Given the description of an element on the screen output the (x, y) to click on. 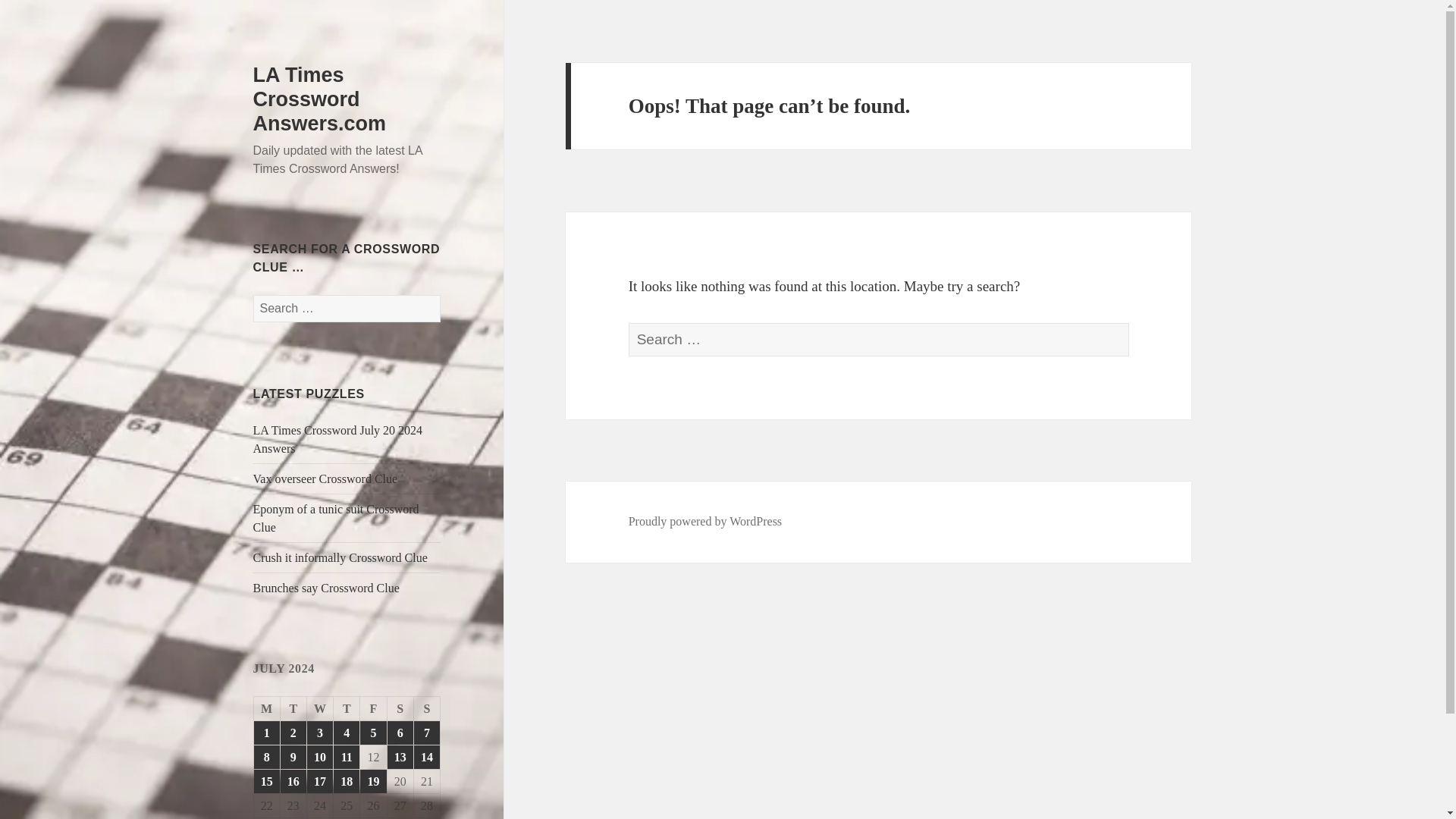
6 (400, 732)
Proudly powered by WordPress (704, 521)
Monday (267, 708)
Wednesday (320, 708)
17 (320, 781)
19 (372, 781)
4 (346, 732)
LA Times Crossword Answers.com (320, 99)
9 (293, 757)
10 (320, 757)
5 (372, 732)
